Given the description of an element on the screen output the (x, y) to click on. 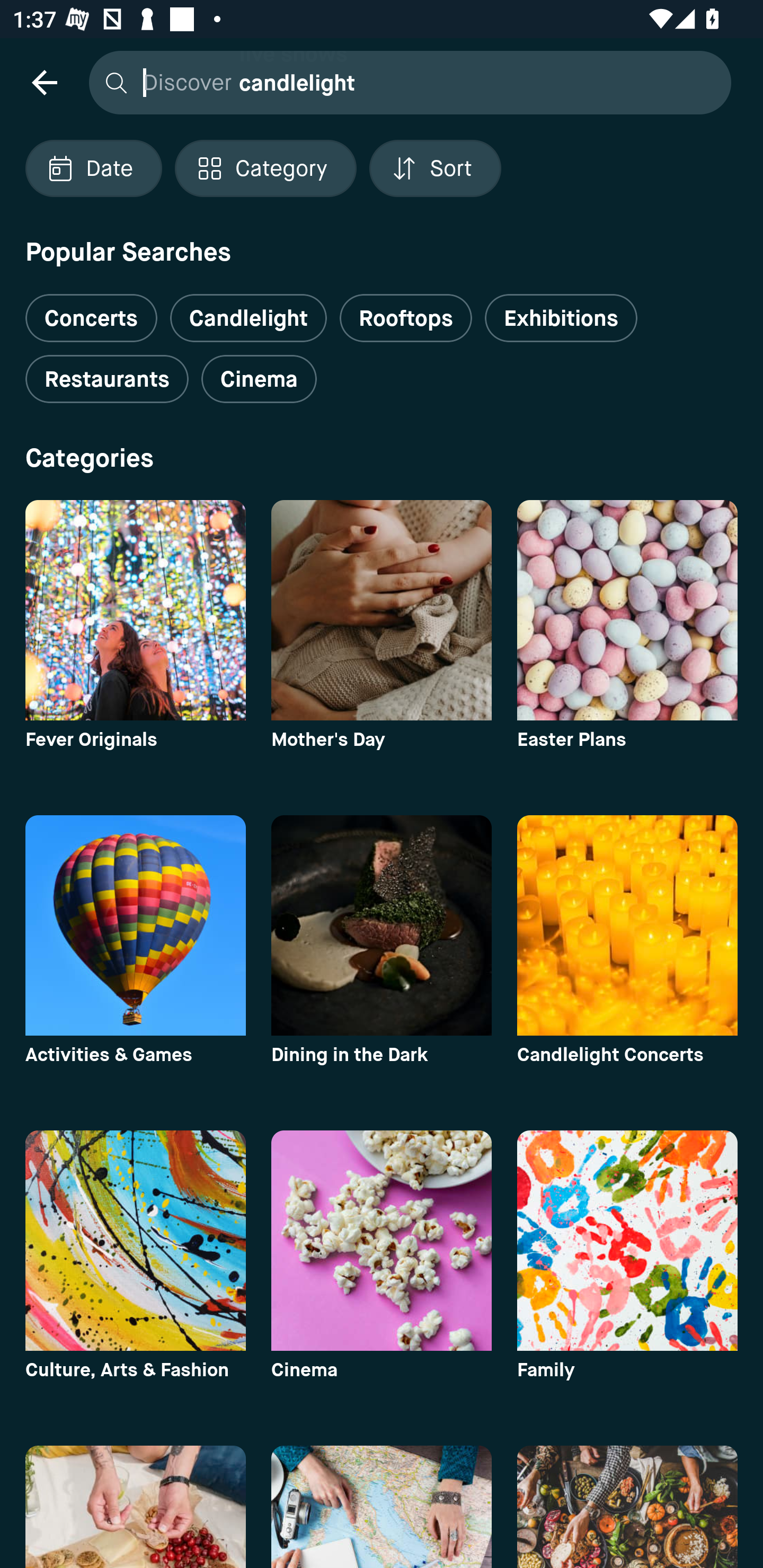
navigation icon (44, 81)
Discover live shows candlelight (405, 81)
Localized description Date (93, 168)
Localized description Category (265, 168)
Localized description Sort (435, 168)
Concerts (91, 310)
Candlelight (248, 317)
Rooftops (405, 317)
Exhibitions (560, 317)
Restaurants (106, 379)
Cinema (258, 379)
category image (135, 609)
category image (381, 609)
category image (627, 609)
category image (135, 924)
category image (381, 924)
category image (627, 924)
category image (135, 1240)
category image (381, 1240)
category image (627, 1240)
category image (135, 1506)
category image (381, 1506)
category image (627, 1506)
